Given the description of an element on the screen output the (x, y) to click on. 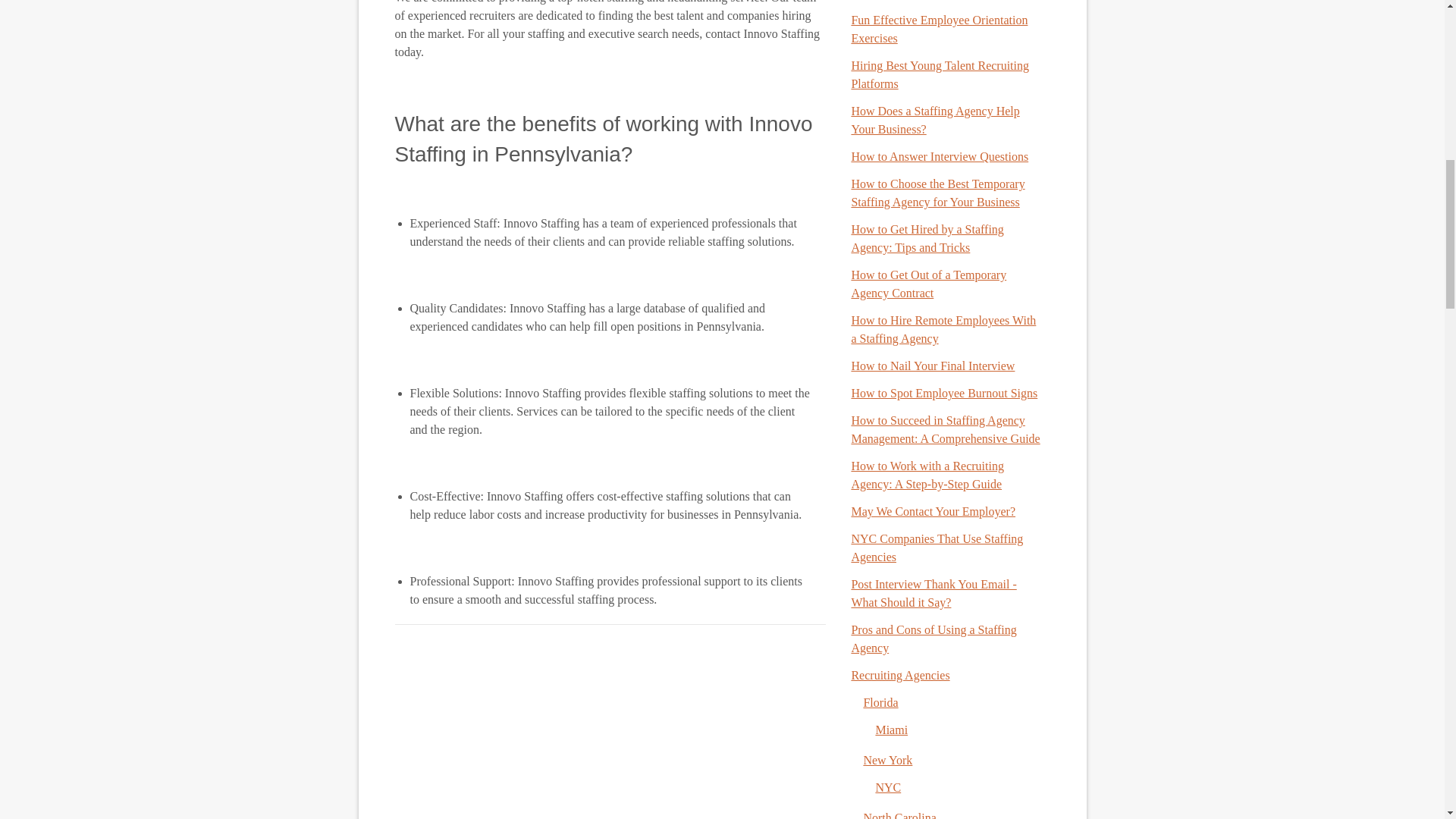
How to Get Hired by a Staffing Agency: Tips and Tricks (926, 237)
How Does a Staffing Agency Help Your Business? (934, 119)
How to Answer Interview Questions (938, 155)
Hiring Best Young Talent Recruiting Platforms (939, 74)
How to Get Out of a Temporary Agency Contract (928, 283)
Fun Effective Employee Orientation Exercises (938, 29)
